Given the description of an element on the screen output the (x, y) to click on. 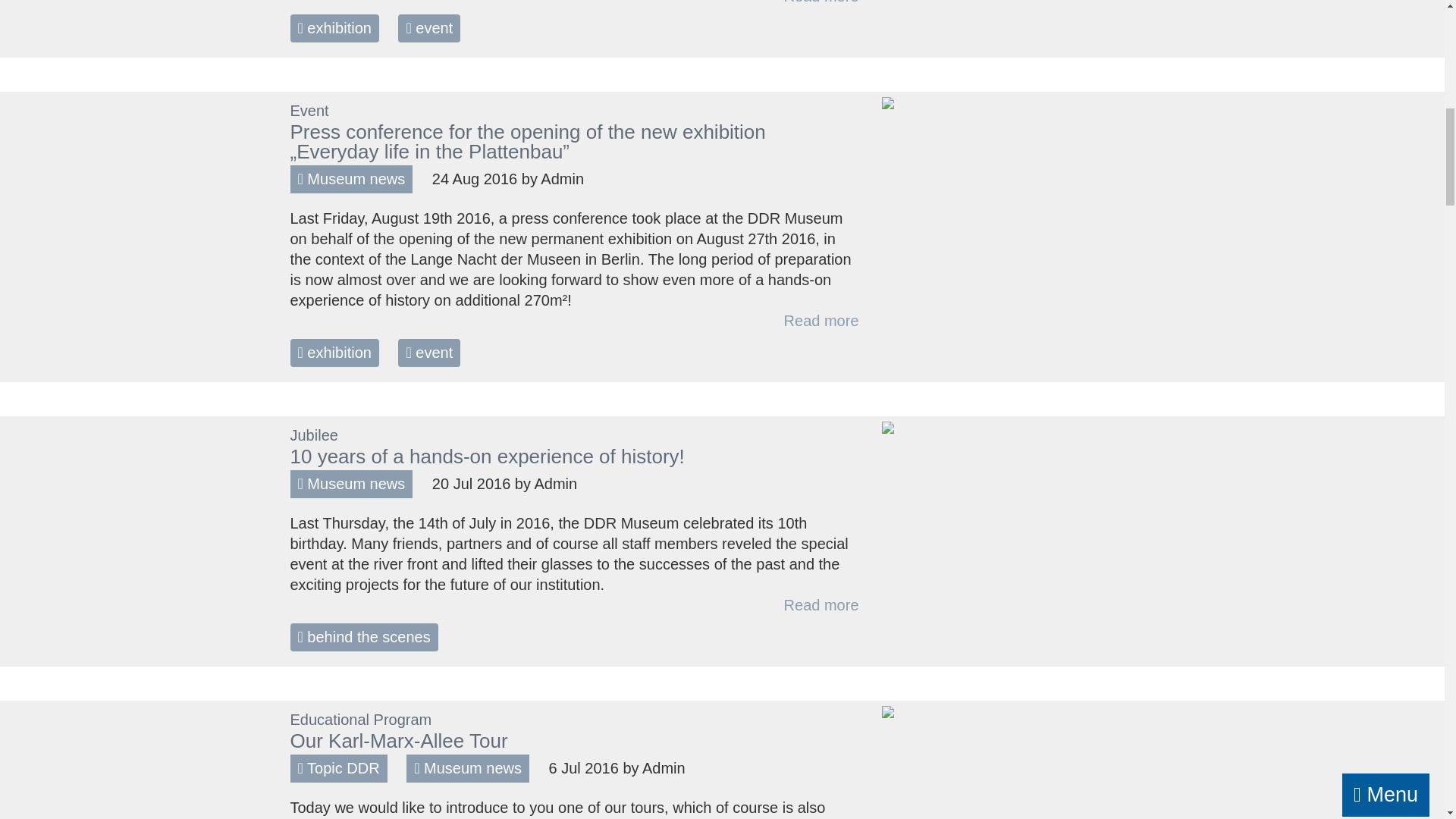
German (31, 20)
Spanish (165, 20)
French (120, 20)
English (76, 20)
Chinese (210, 20)
